Given the description of an element on the screen output the (x, y) to click on. 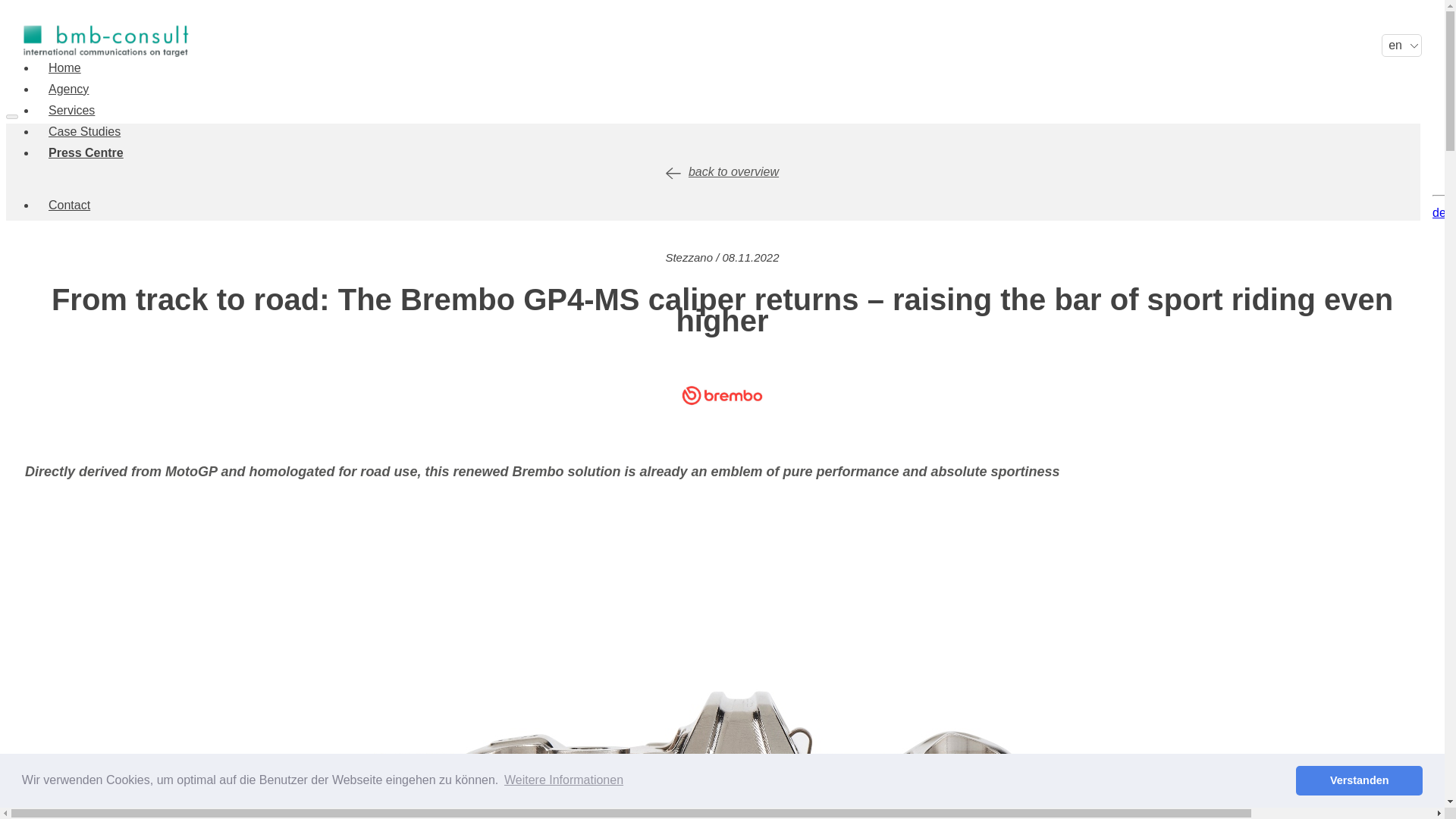
Contact (68, 205)
Home (64, 67)
Verstanden (1358, 780)
Brembo (721, 395)
Services (70, 110)
back to overview (721, 171)
Case Studies (84, 131)
Agency (68, 88)
Weitere Informationen (564, 780)
